Given the description of an element on the screen output the (x, y) to click on. 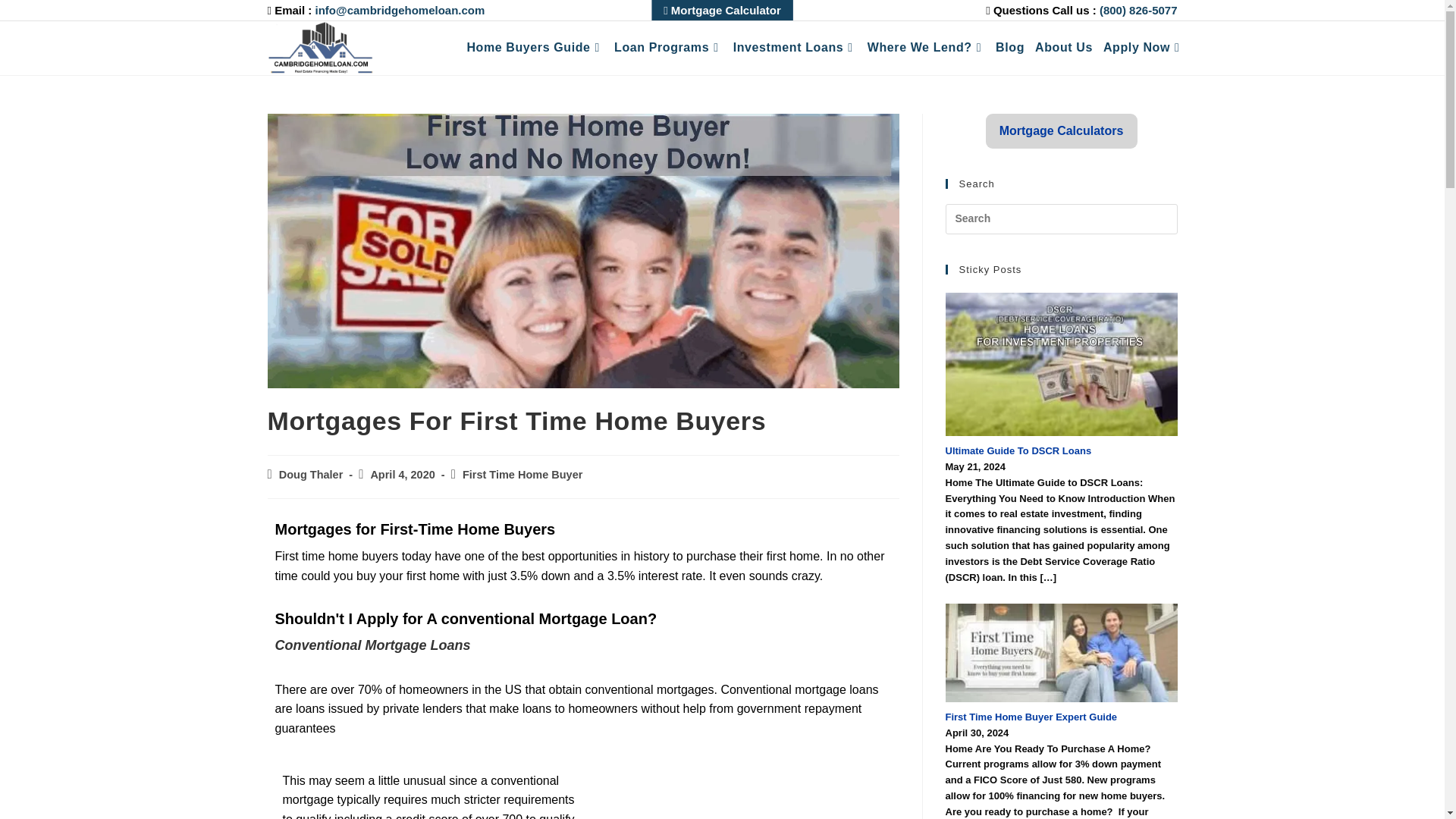
Investment Loans (794, 47)
Ultimate Guide To DSCR Loans (1060, 364)
Posts by Doug Thaler (311, 474)
Mortgage Calculator (721, 10)
Loan Programs (668, 47)
Home Buyers Guide (534, 47)
First Time Home Buyer Expert Guide (1060, 652)
